Given the description of an element on the screen output the (x, y) to click on. 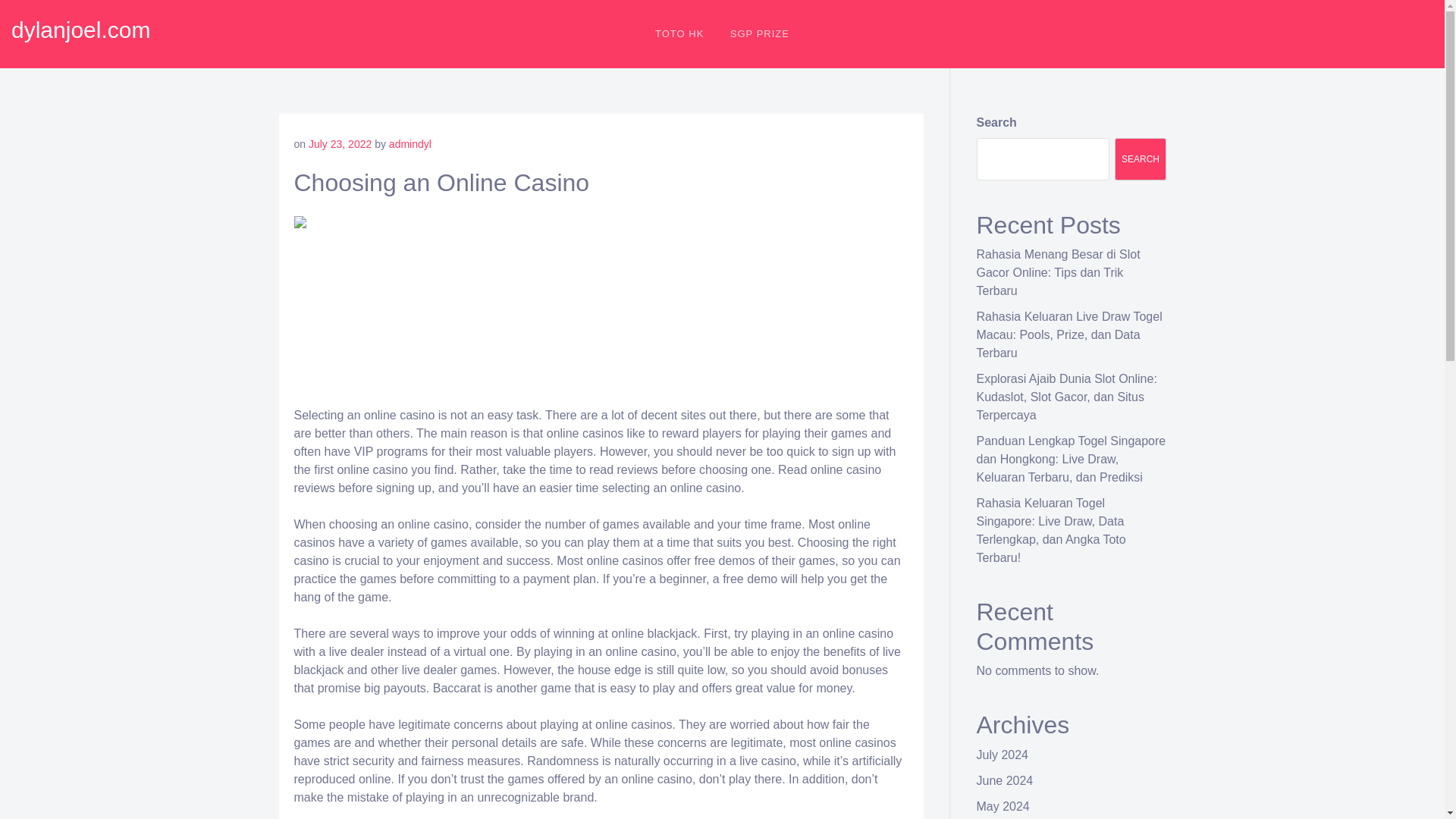
July 23, 2022 (339, 143)
SEARCH (1140, 159)
TOTO HK (678, 33)
July 2024 (1002, 754)
June 2024 (1004, 780)
admindyl (409, 143)
SGP PRIZE (759, 33)
May 2024 (1002, 806)
dylanjoel.com (80, 29)
